Given the description of an element on the screen output the (x, y) to click on. 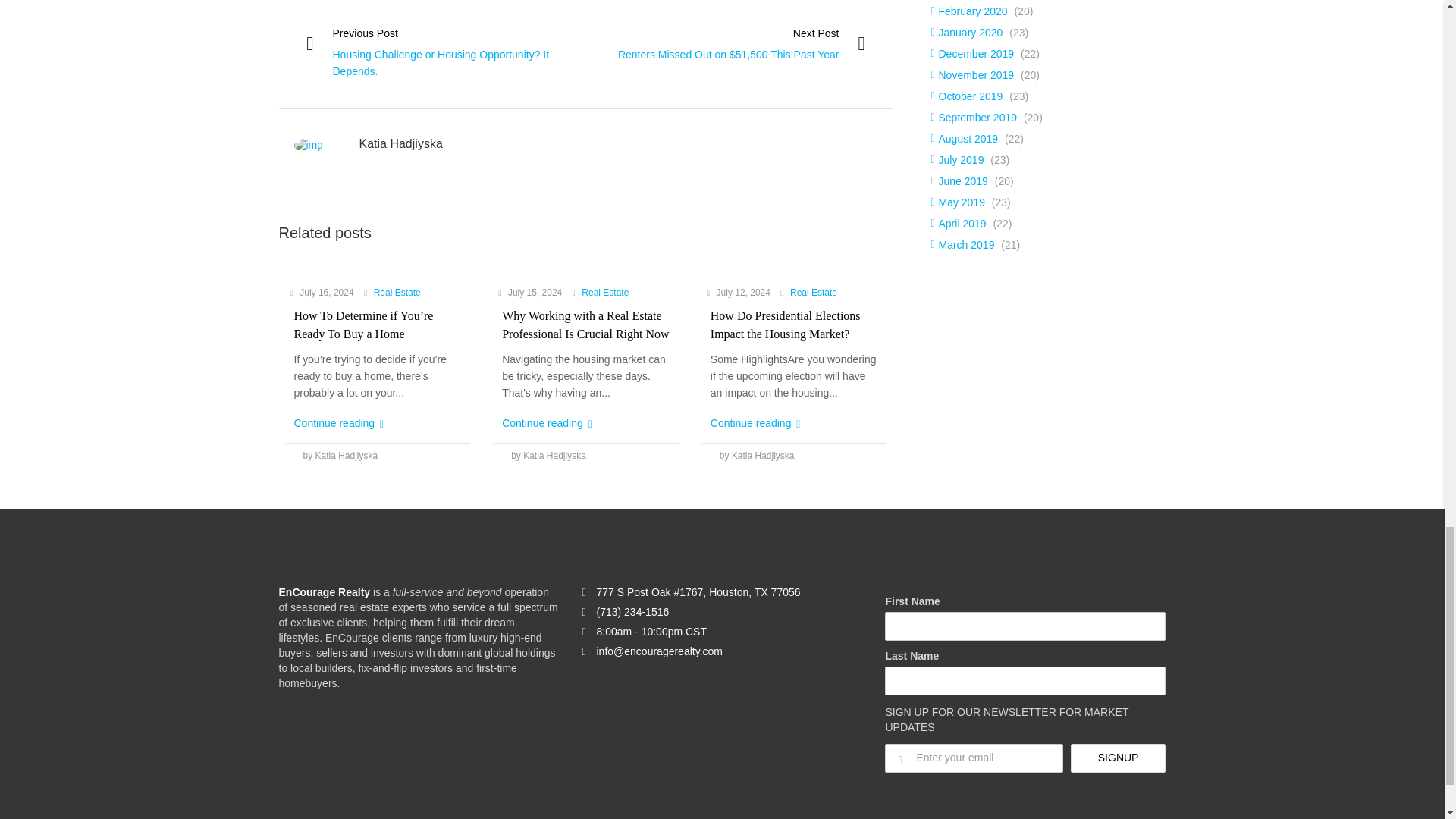
Continue reading (339, 422)
Continue reading (547, 422)
Continue reading (755, 422)
Real Estate (397, 292)
Previous Post (364, 33)
Real Estate (813, 292)
Housing Challenge or Housing Opportunity? It Depends. (439, 62)
Real Estate (604, 292)
Next Post (816, 33)
